Given the description of an element on the screen output the (x, y) to click on. 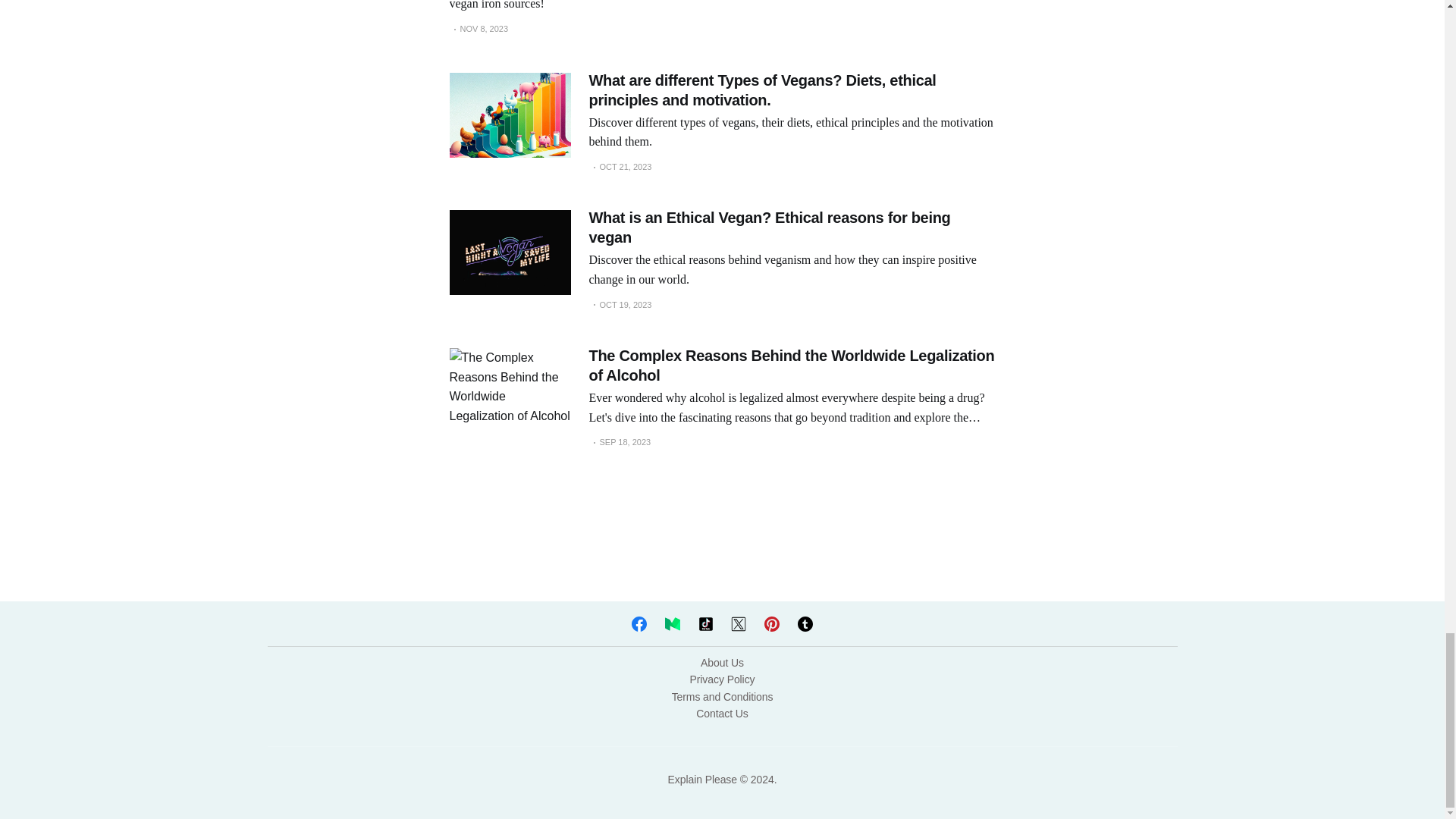
TikTok (705, 624)
Terms and Conditions (722, 696)
Medium (672, 624)
Twitter (737, 624)
About Us (722, 662)
Pinterest (771, 624)
Contact Us (721, 713)
Privacy Policy (722, 679)
Tumblr (804, 624)
Facebook (638, 624)
